Given the description of an element on the screen output the (x, y) to click on. 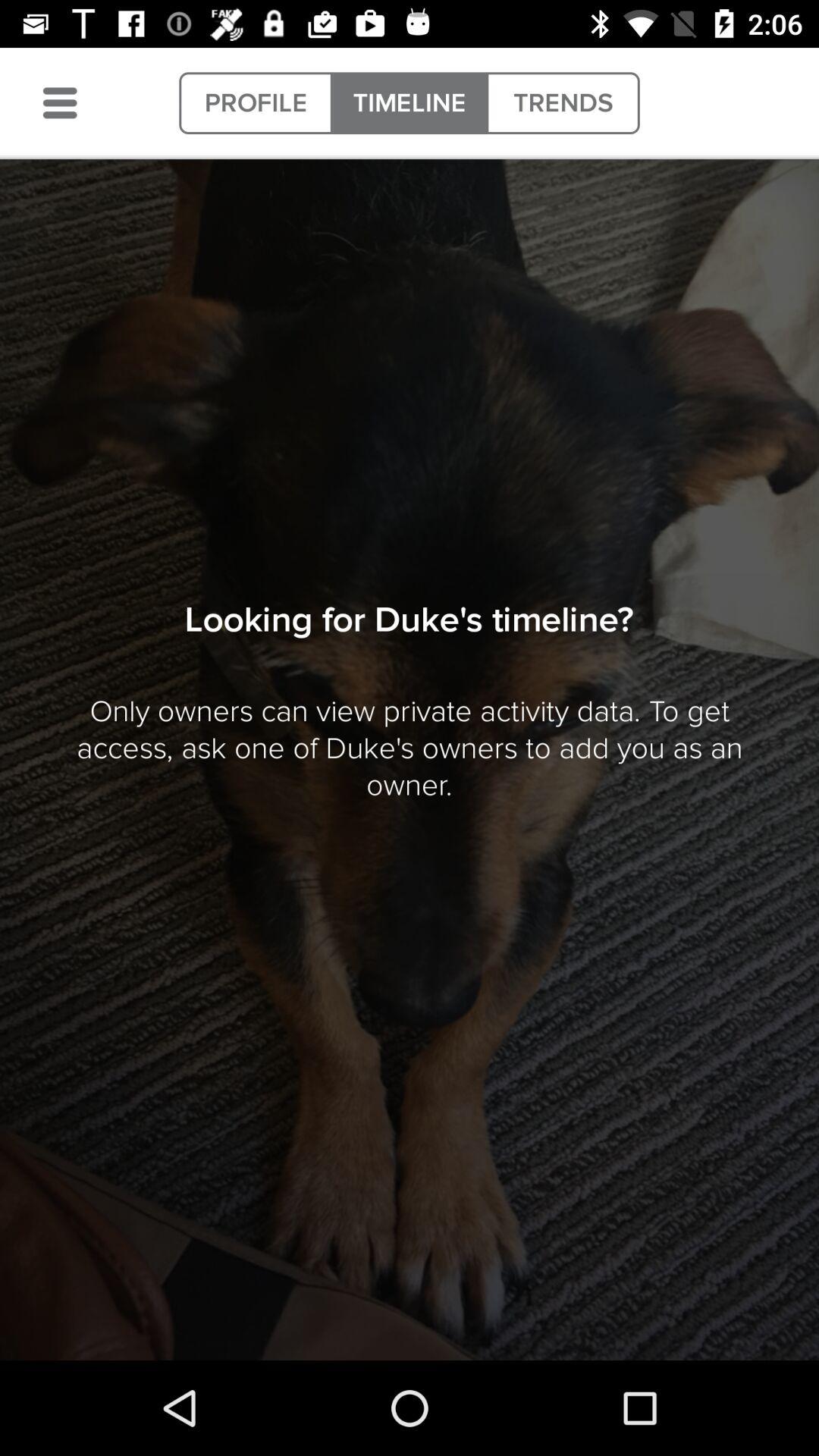
swipe until the trends item (562, 103)
